Given the description of an element on the screen output the (x, y) to click on. 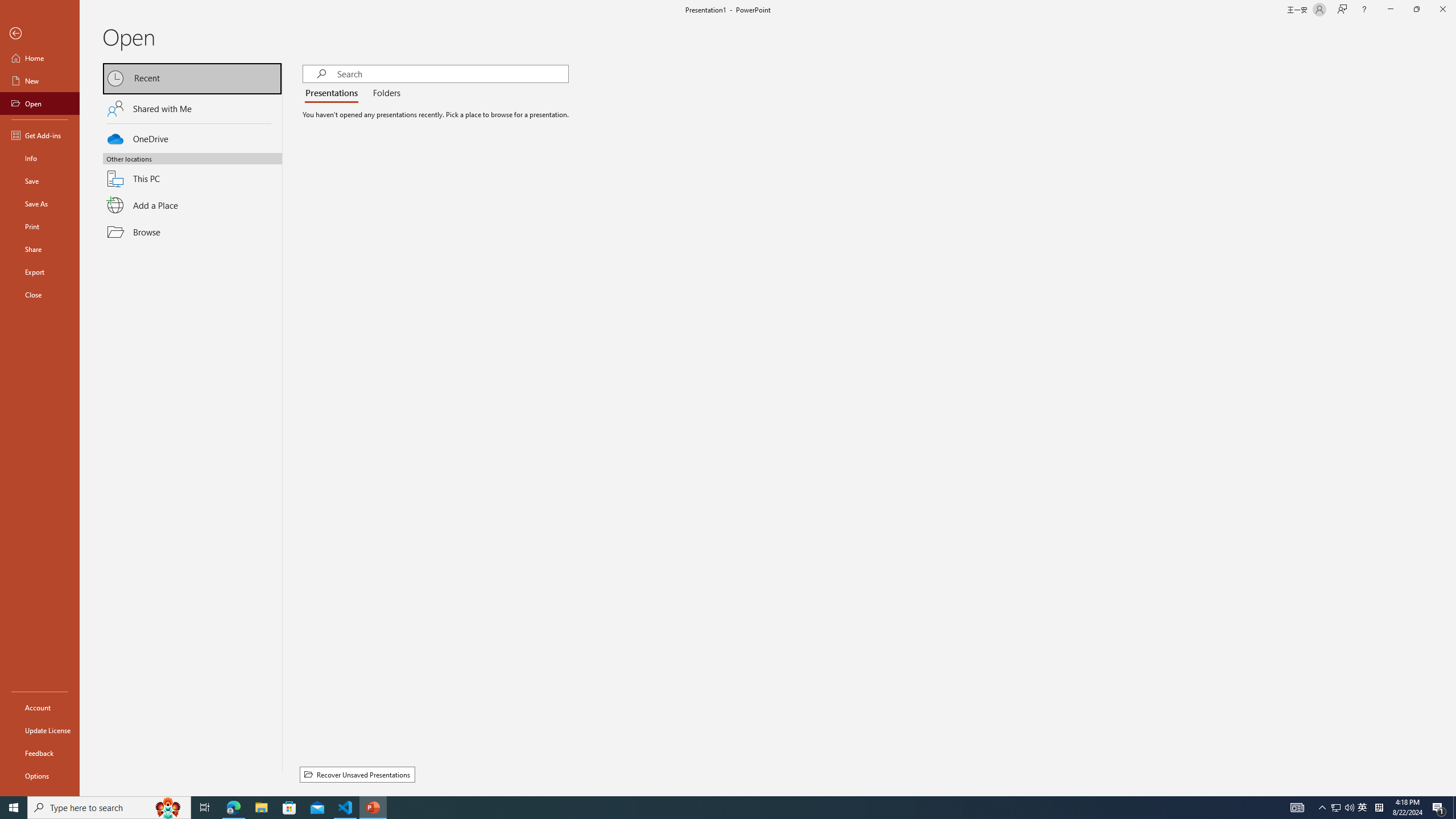
Folders (384, 93)
Export (40, 271)
